Given the description of an element on the screen output the (x, y) to click on. 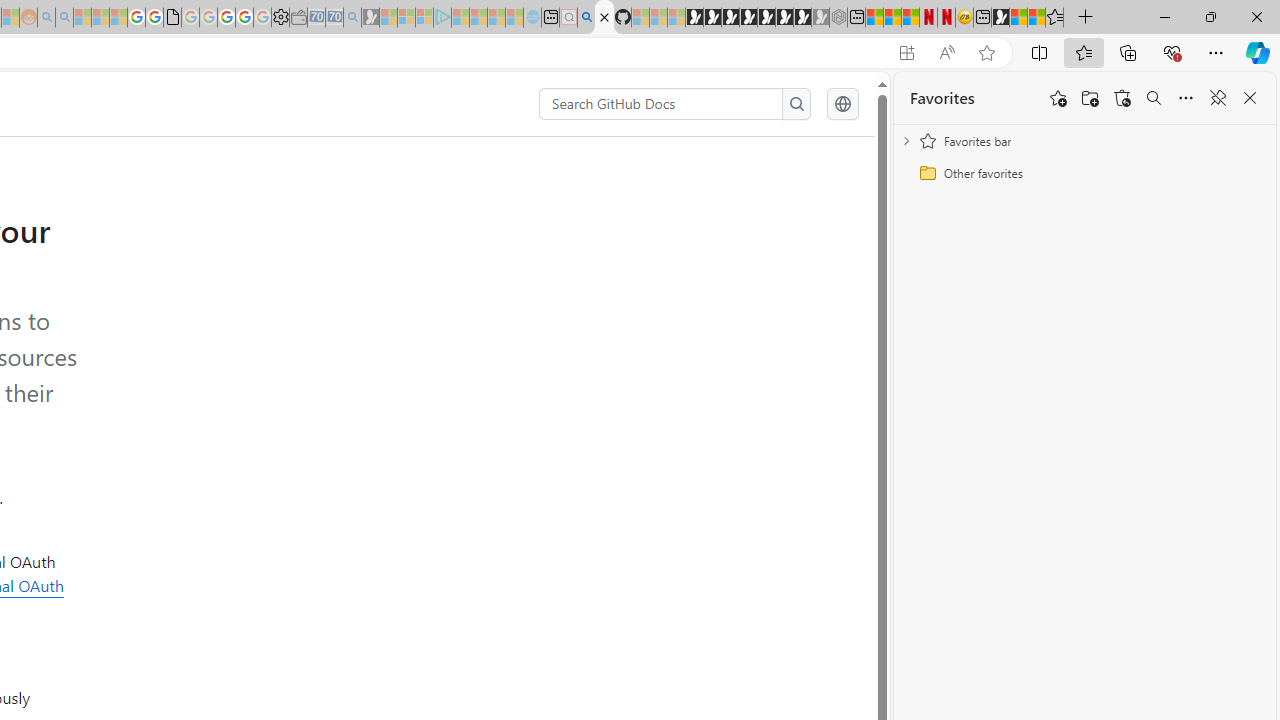
Wallet - Sleeping (298, 17)
Select language: current language is English (842, 103)
Wildlife - MSN (1017, 17)
Play Free Online Games | Games from Microsoft Start (694, 17)
